Given the description of an element on the screen output the (x, y) to click on. 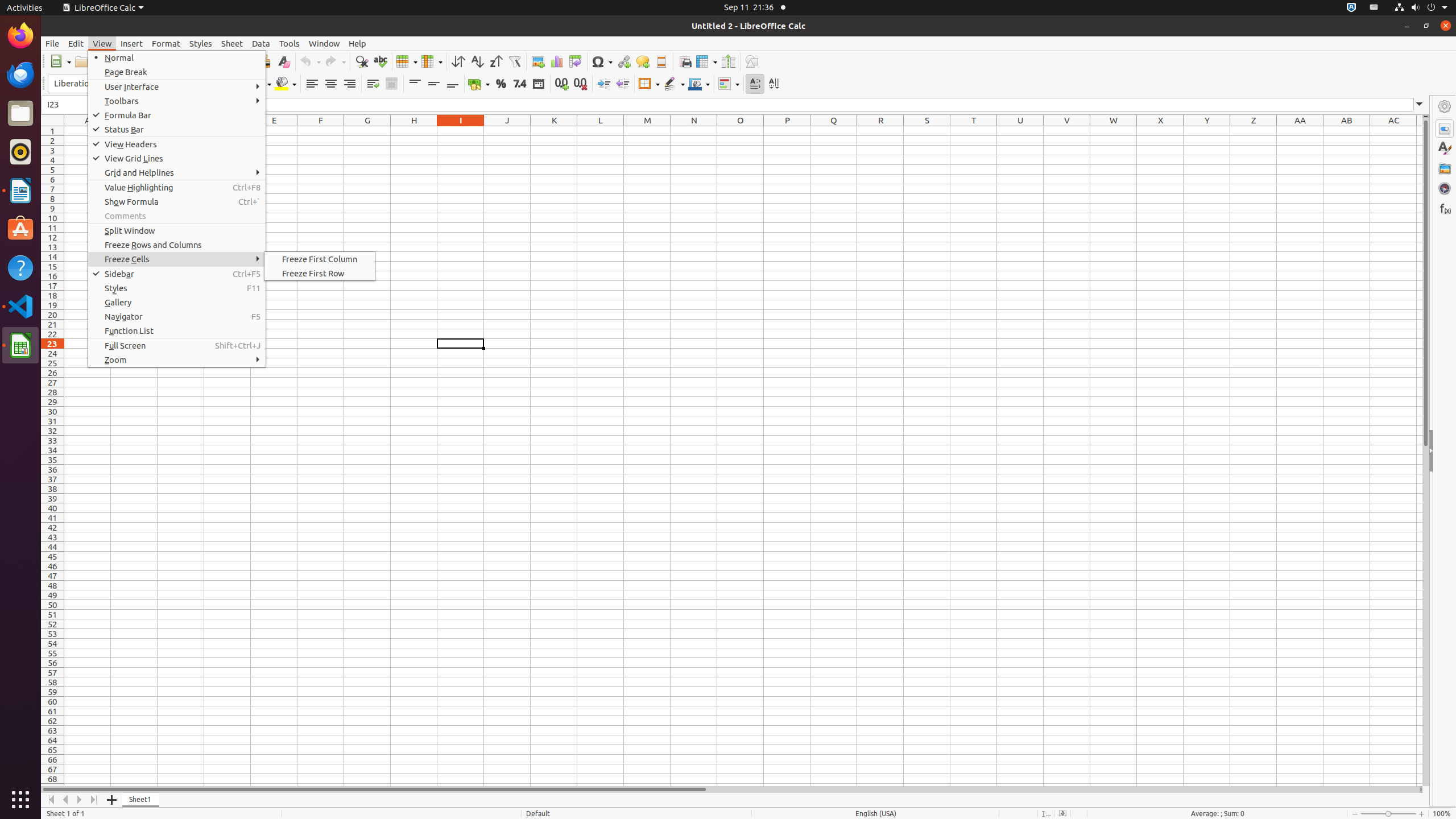
Align Center Element type: push-button (330, 83)
Format Element type: menu (165, 43)
Border Color Element type: push-button (698, 83)
C1 Element type: table-cell (180, 130)
